Given the description of an element on the screen output the (x, y) to click on. 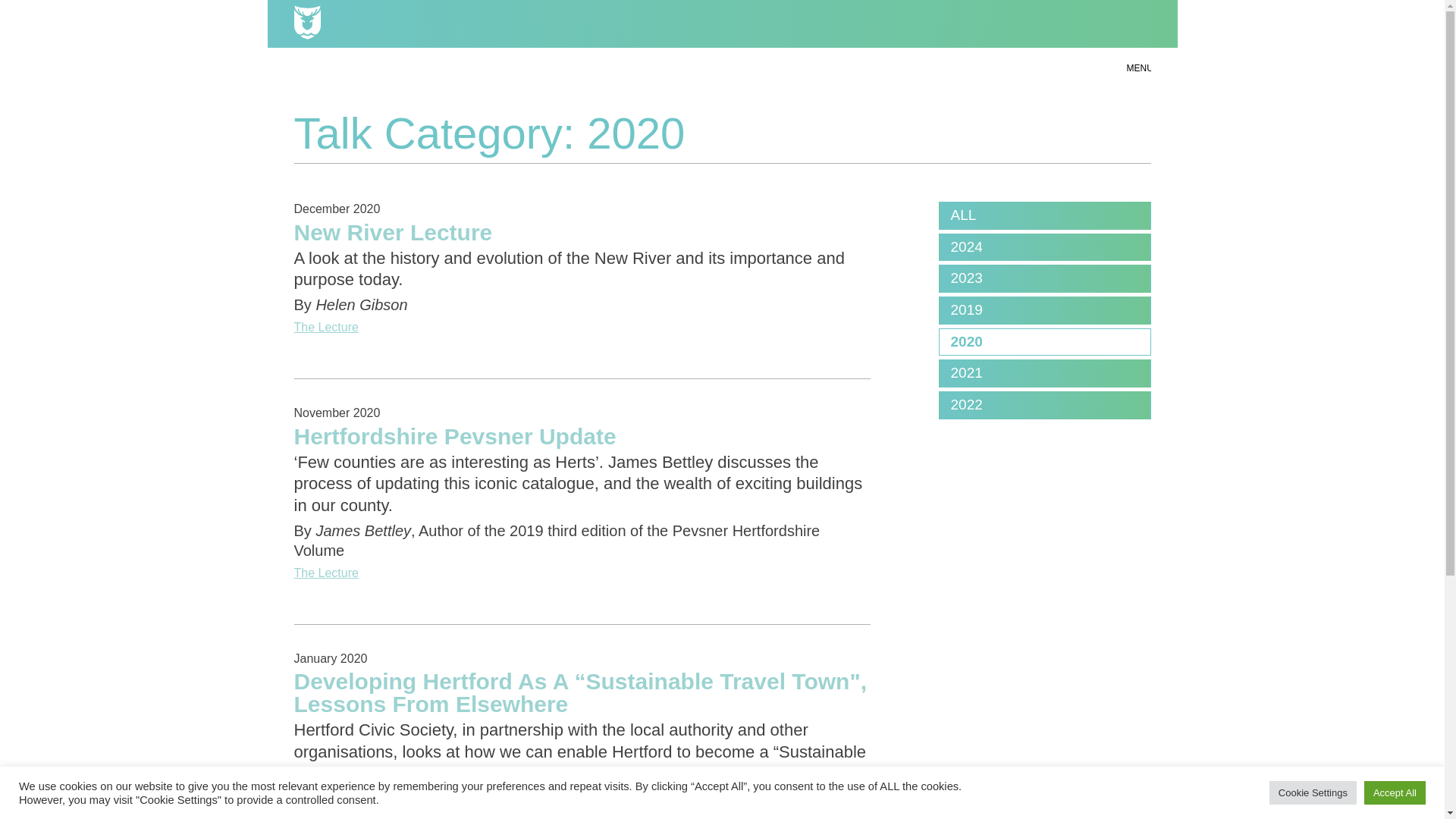
The Lecture (582, 573)
2022 (1044, 405)
ALL (1044, 215)
The Lecture (582, 327)
Hertford Civic Society (722, 24)
2023 (1044, 278)
Accept All (1394, 792)
2024 (1044, 247)
2019 (1044, 310)
2020 (1044, 342)
2021 (1044, 373)
The Lecture (582, 815)
Cookie Settings (1312, 792)
